Given the description of an element on the screen output the (x, y) to click on. 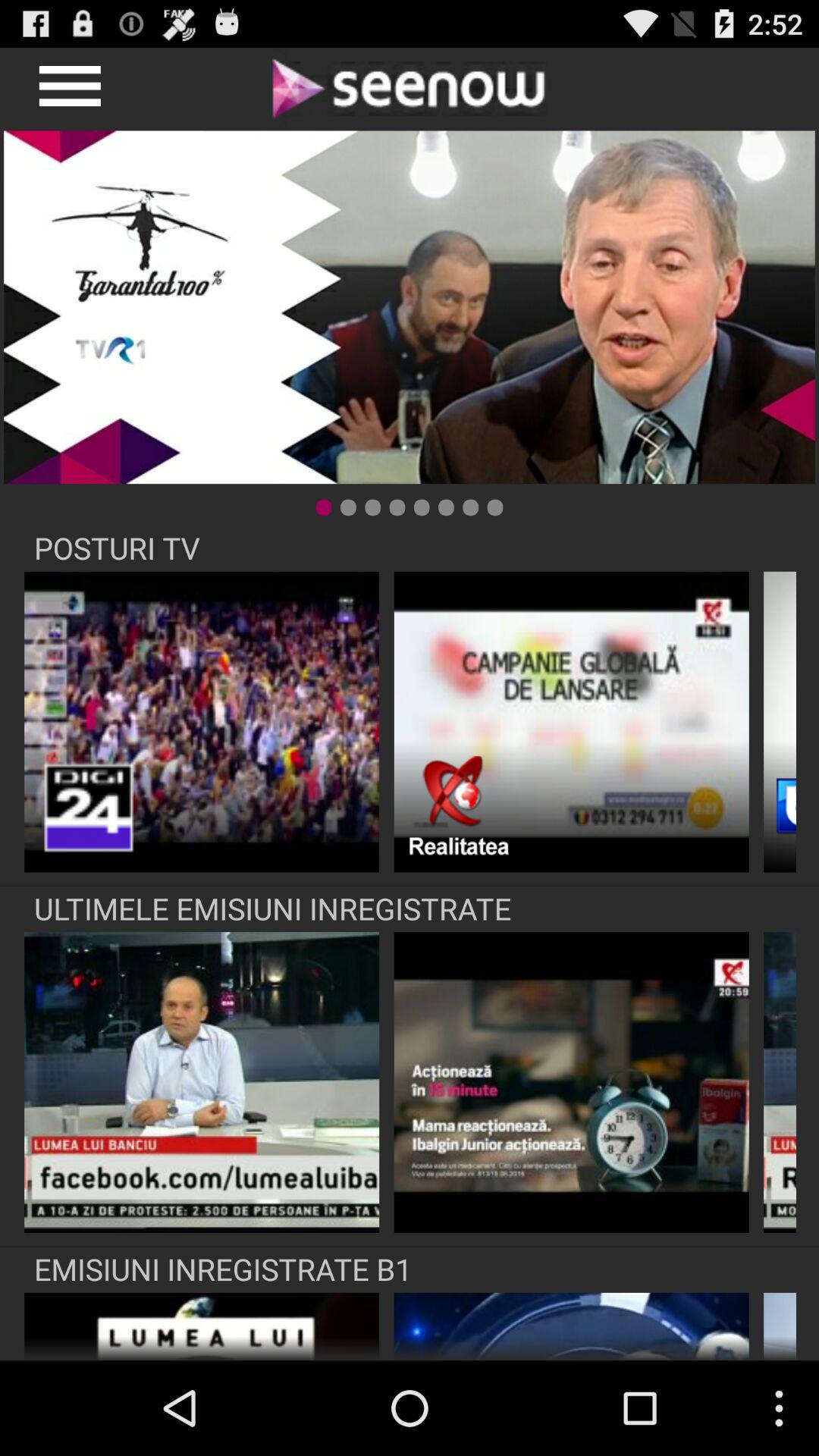
go to meanu option (68, 87)
